Given the description of an element on the screen output the (x, y) to click on. 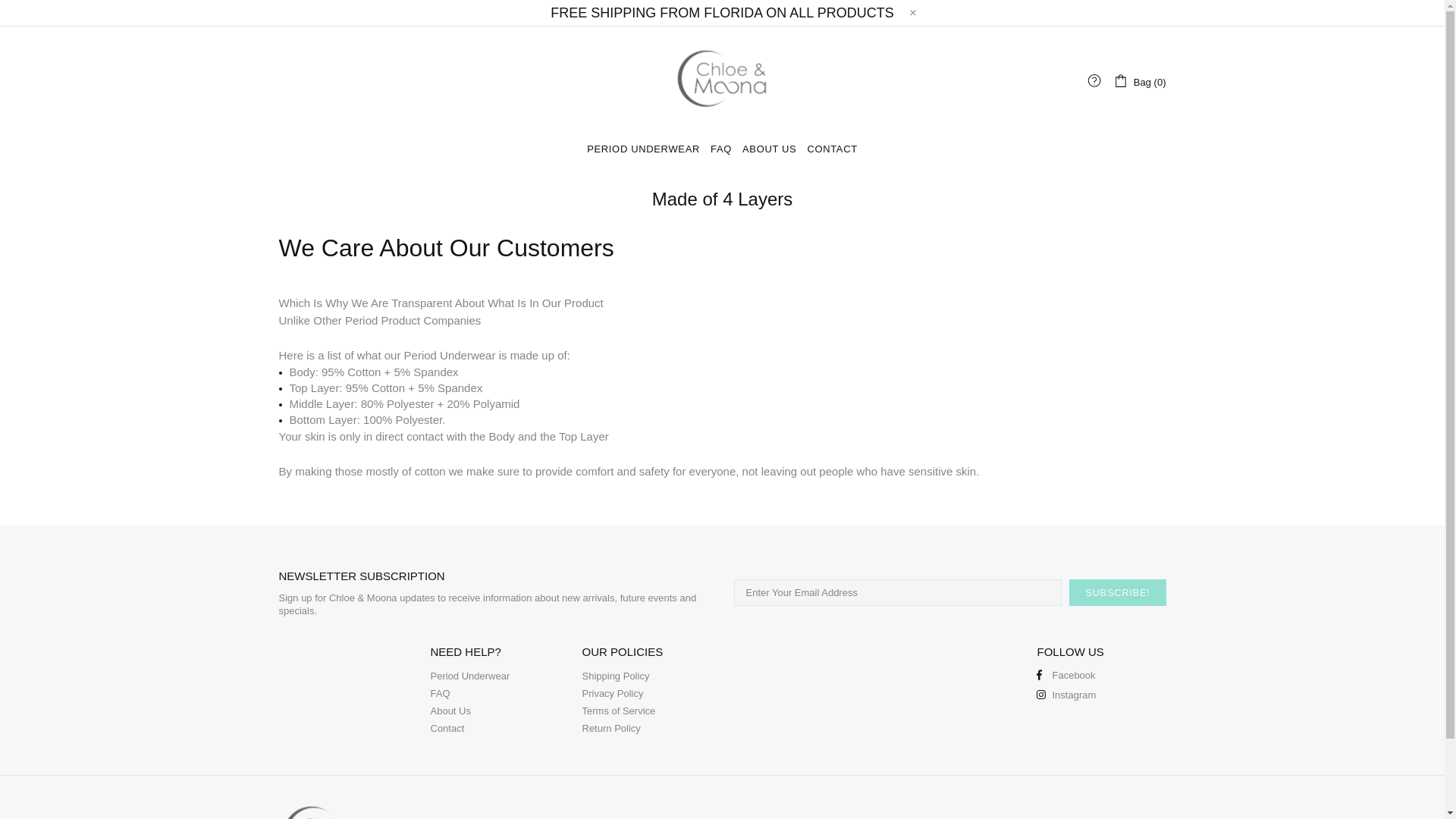
Instagram (1066, 694)
FAQ (720, 149)
Privacy Policy (612, 693)
Terms of Service (619, 710)
Shipping Policy (615, 675)
Period Underwear (470, 675)
FAQ (439, 693)
CONTACT (831, 149)
PERIOD UNDERWEAR (642, 149)
Return Policy (611, 727)
SUBSCRIBE! (1117, 592)
Contact (447, 727)
SUBSCRIBE! (1117, 592)
Facebook (1065, 674)
ABOUT US (769, 149)
